Given the description of an element on the screen output the (x, y) to click on. 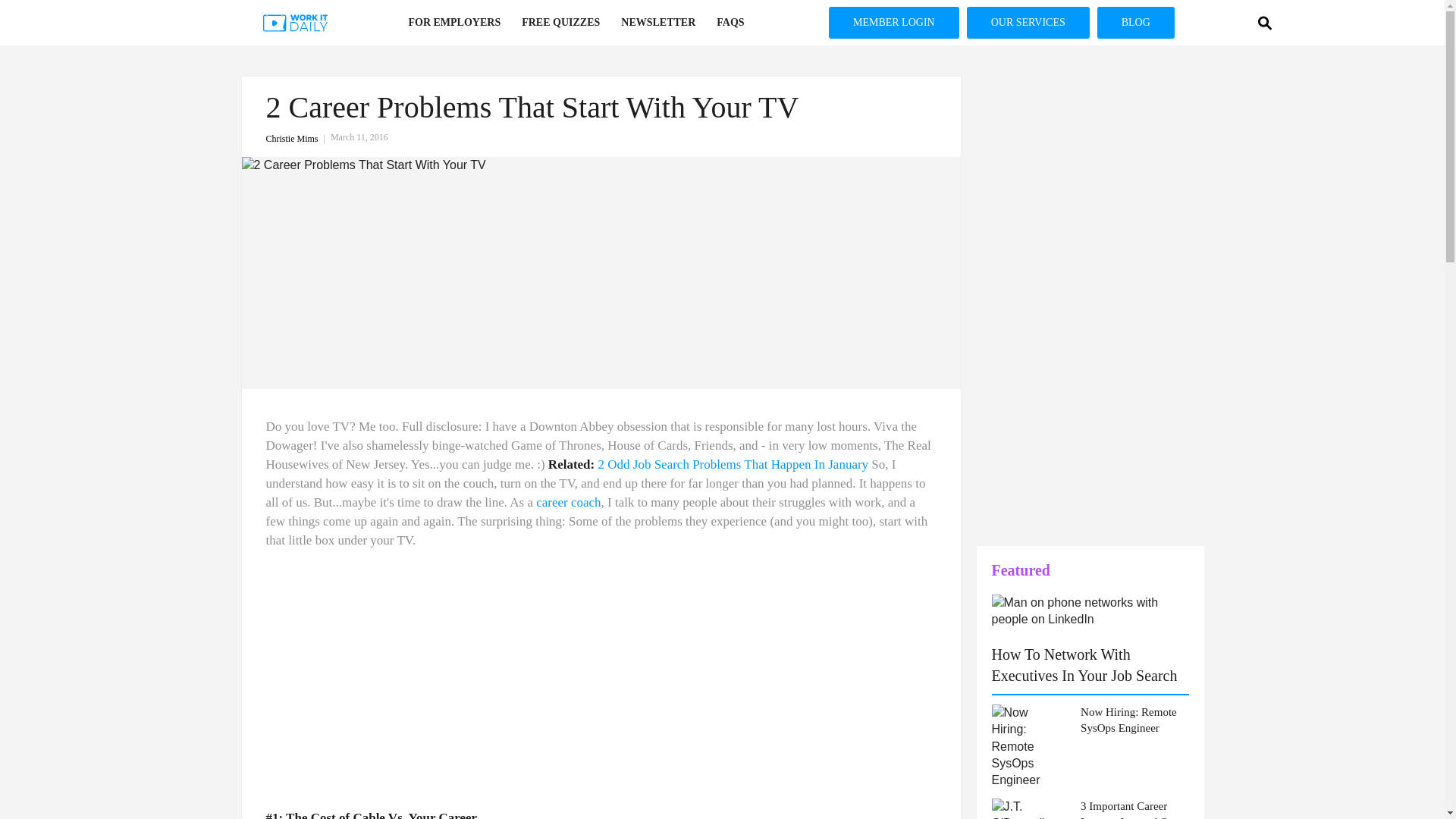
Christie Mims (297, 138)
FAQS (730, 22)
MEMBER LOGIN (893, 22)
career coach (567, 502)
FOR EMPLOYERS (454, 22)
BLOG (21, 288)
OUR SERVICES (21, 239)
BLOG (1135, 22)
MEMBER LOGIN (21, 190)
2 Odd Job Search Problems That Happen In January (731, 464)
